Given the description of an element on the screen output the (x, y) to click on. 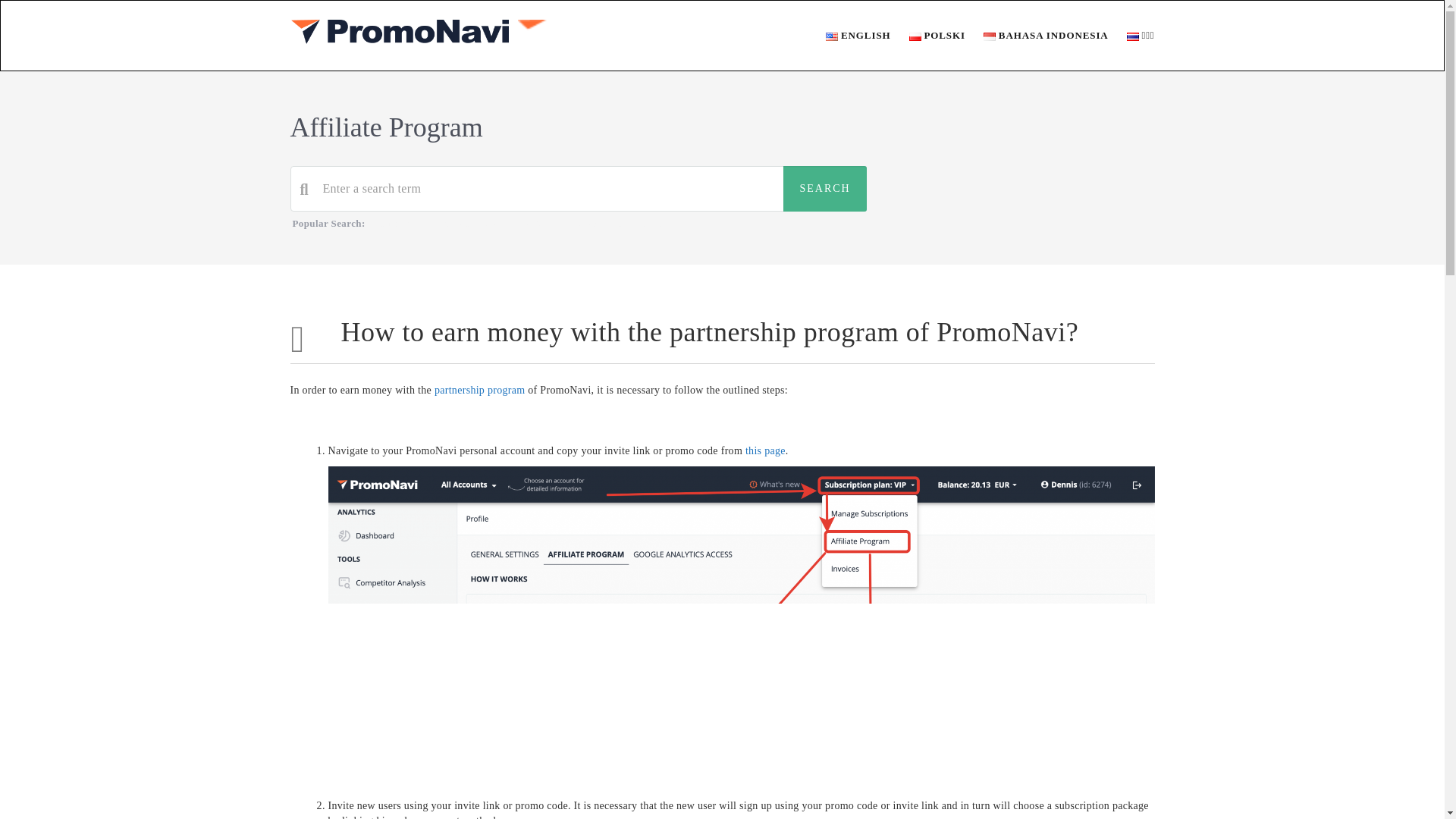
BAHASA INDONESIA (1036, 35)
partnership program (479, 389)
Competitor Analysis (526, 223)
Google Ads Reports (619, 223)
Search (824, 188)
Search (824, 188)
English (831, 36)
this page (765, 450)
Polski (914, 36)
Bahasa Indonesia (989, 36)
